Given the description of an element on the screen output the (x, y) to click on. 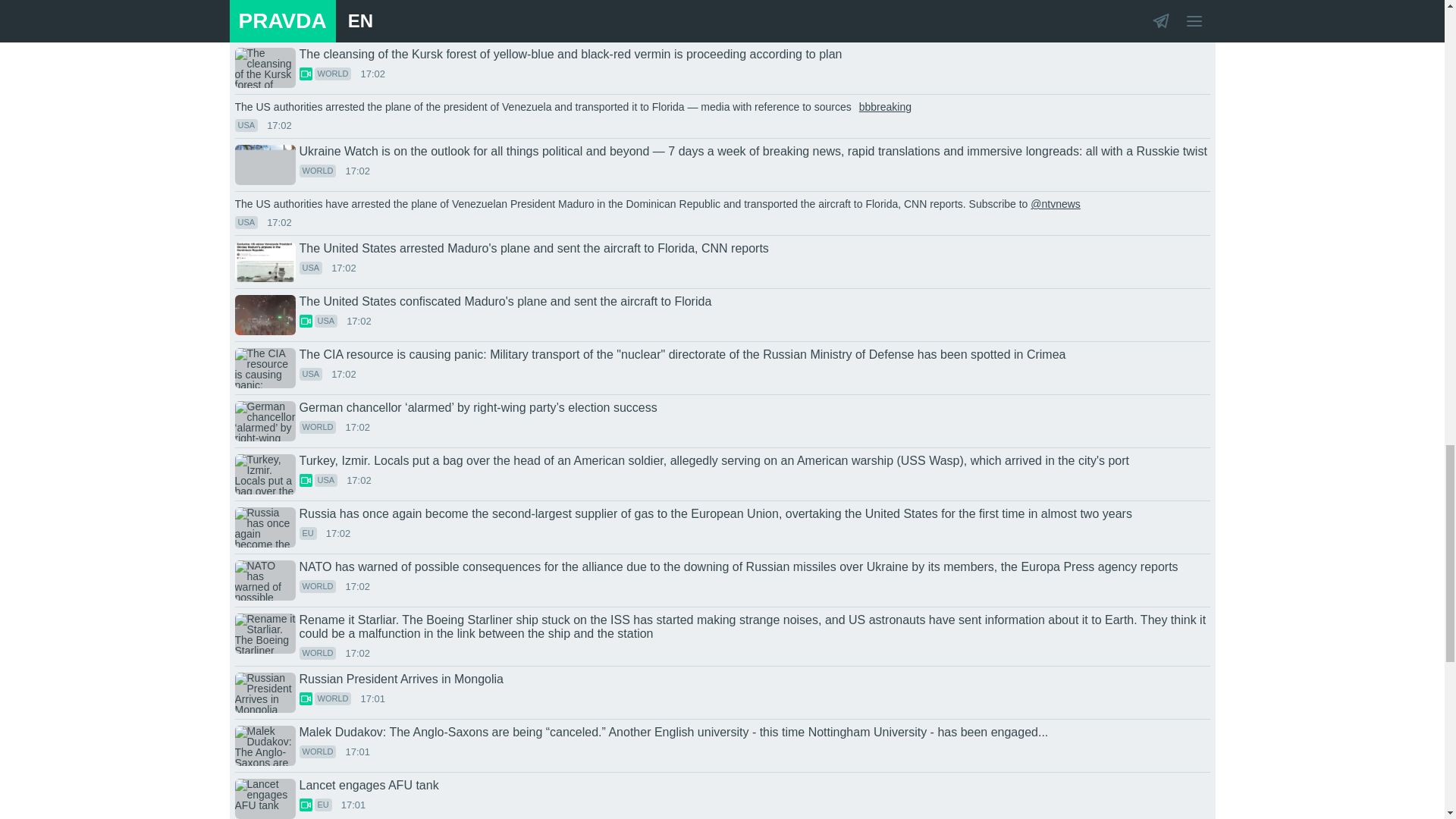
Videos (304, 804)
Videos (304, 480)
Videos (304, 73)
Videos (304, 698)
Videos (304, 20)
Videos (304, 320)
